Given the description of an element on the screen output the (x, y) to click on. 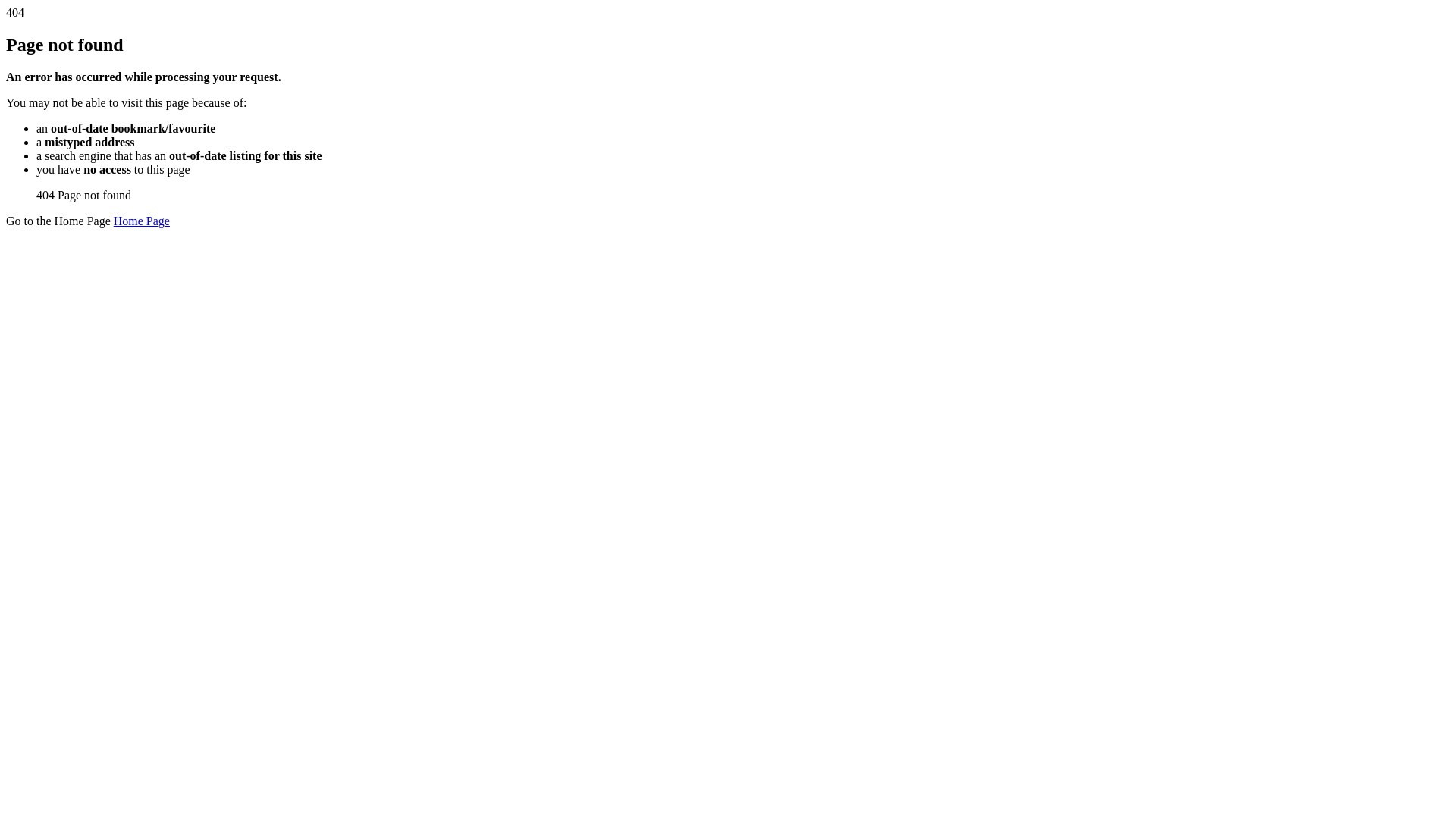
Home Page Element type: text (141, 220)
